Given the description of an element on the screen output the (x, y) to click on. 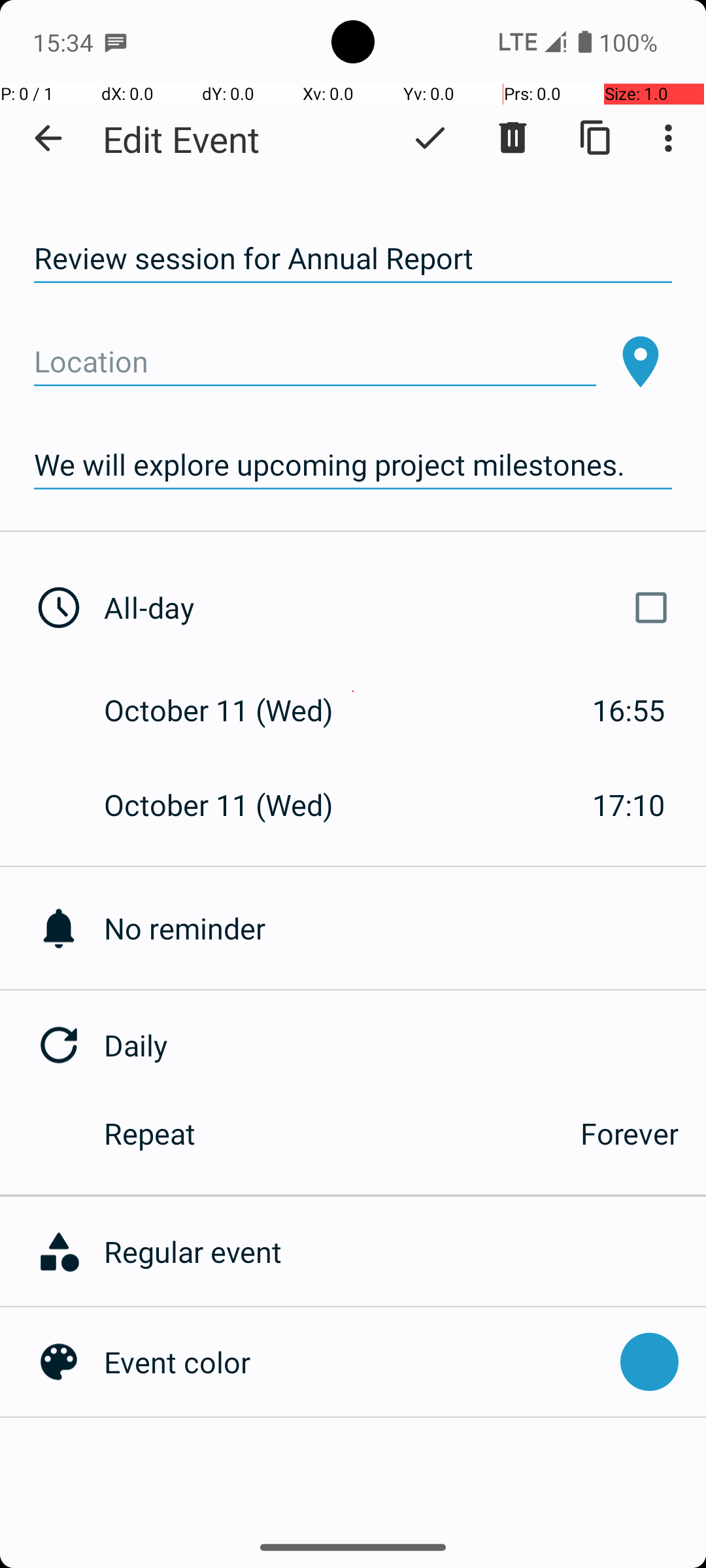
October 11 (Wed) Element type: android.widget.TextView (232, 709)
16:55 Element type: android.widget.TextView (628, 709)
17:10 Element type: android.widget.TextView (628, 804)
Forever Element type: android.widget.TextView (629, 1132)
